Given the description of an element on the screen output the (x, y) to click on. 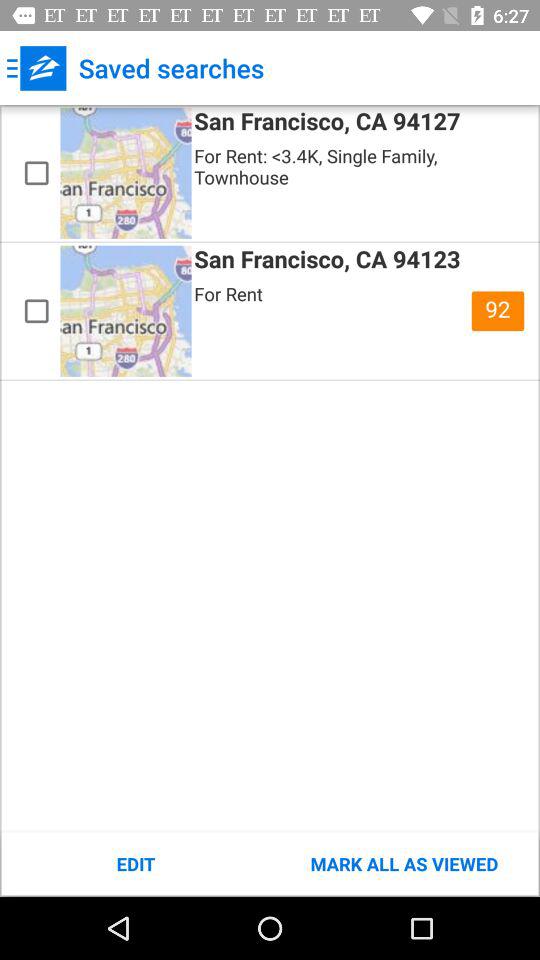
select the icon below the for rent 3 (497, 311)
